Given the description of an element on the screen output the (x, y) to click on. 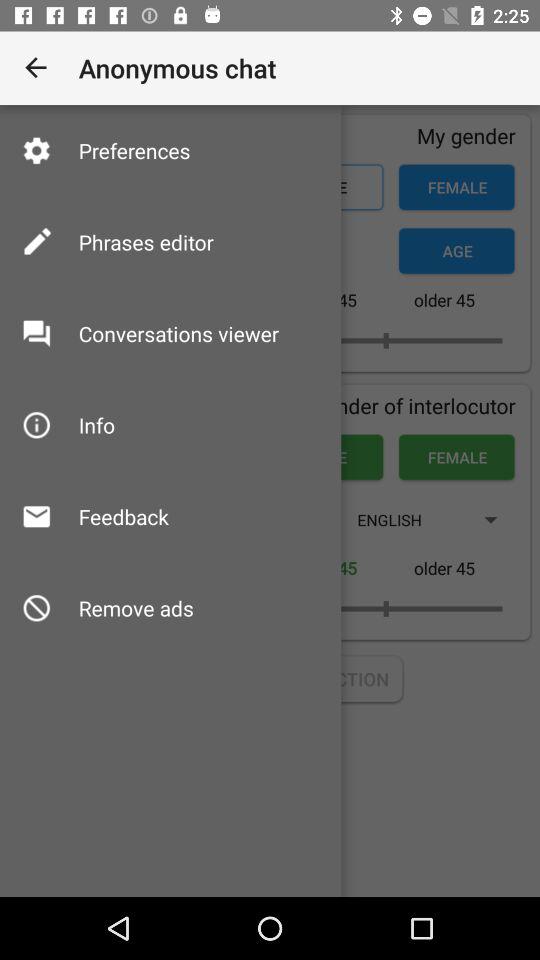
swipe until no internet connection icon (269, 678)
